Given the description of an element on the screen output the (x, y) to click on. 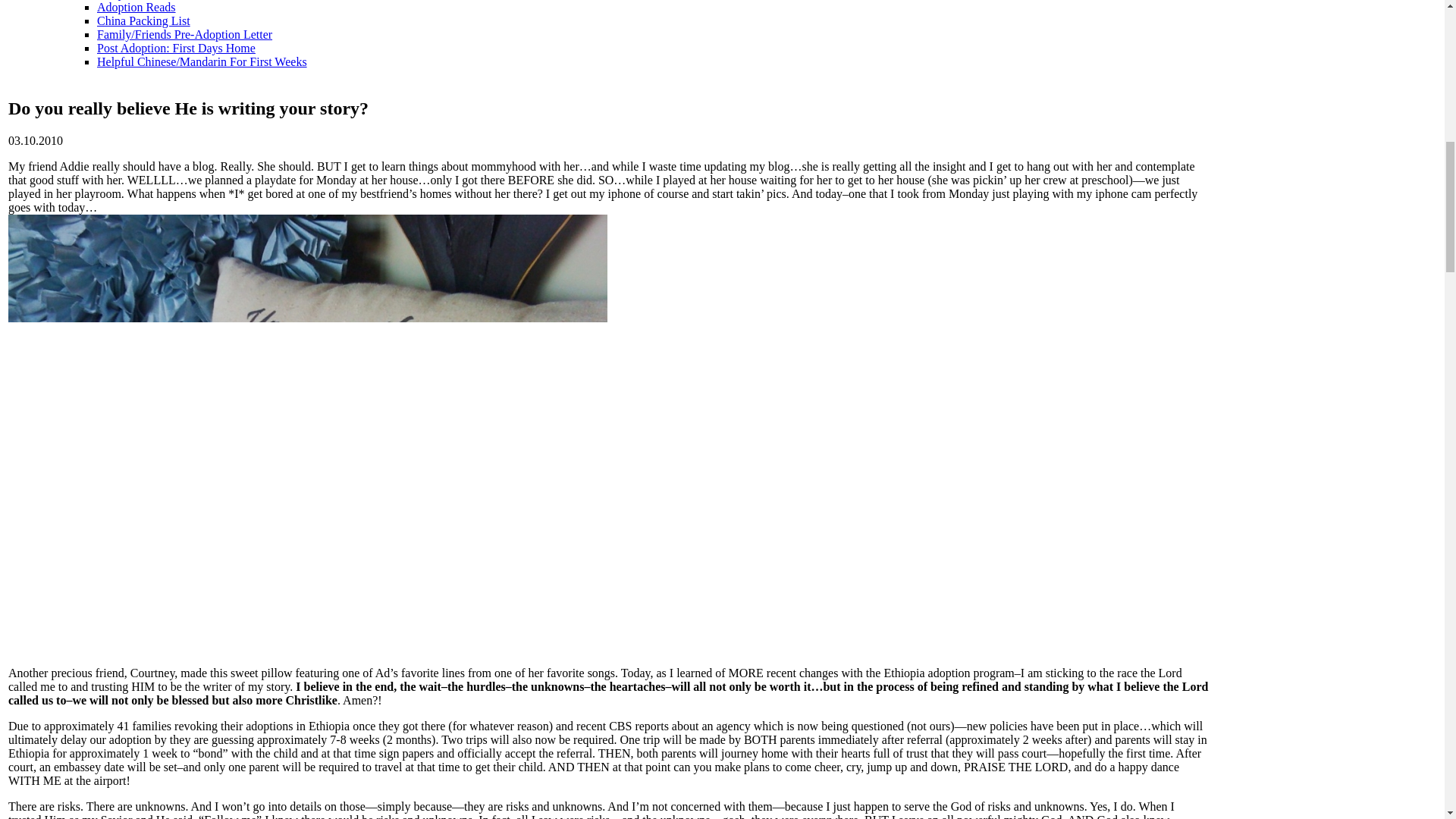
Post Adoption: First Days Home (176, 47)
Adoption Reads (136, 6)
China Packing List (143, 20)
